Given the description of an element on the screen output the (x, y) to click on. 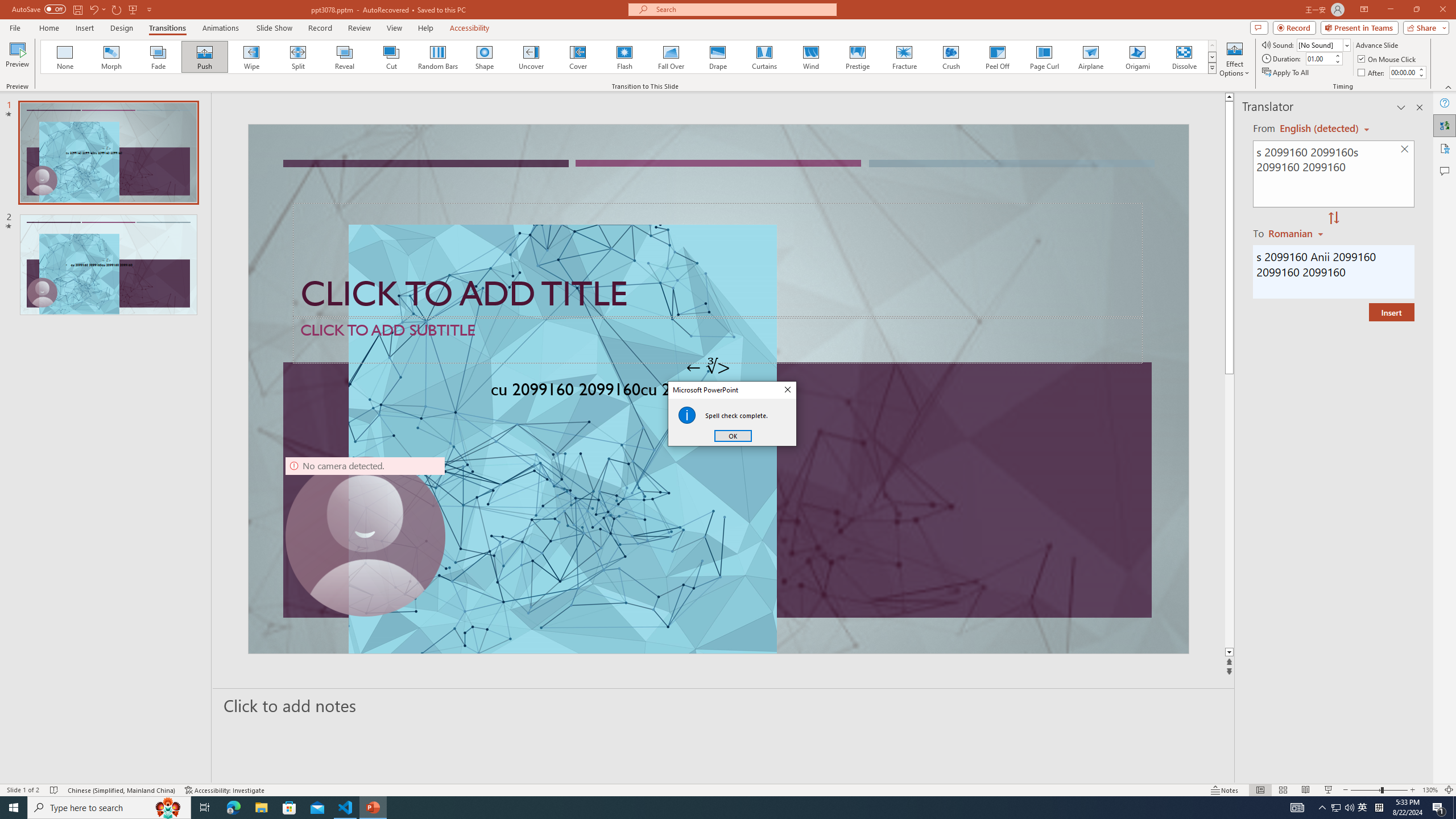
Cover (577, 56)
OK (732, 435)
Fracture (903, 56)
